Given the description of an element on the screen output the (x, y) to click on. 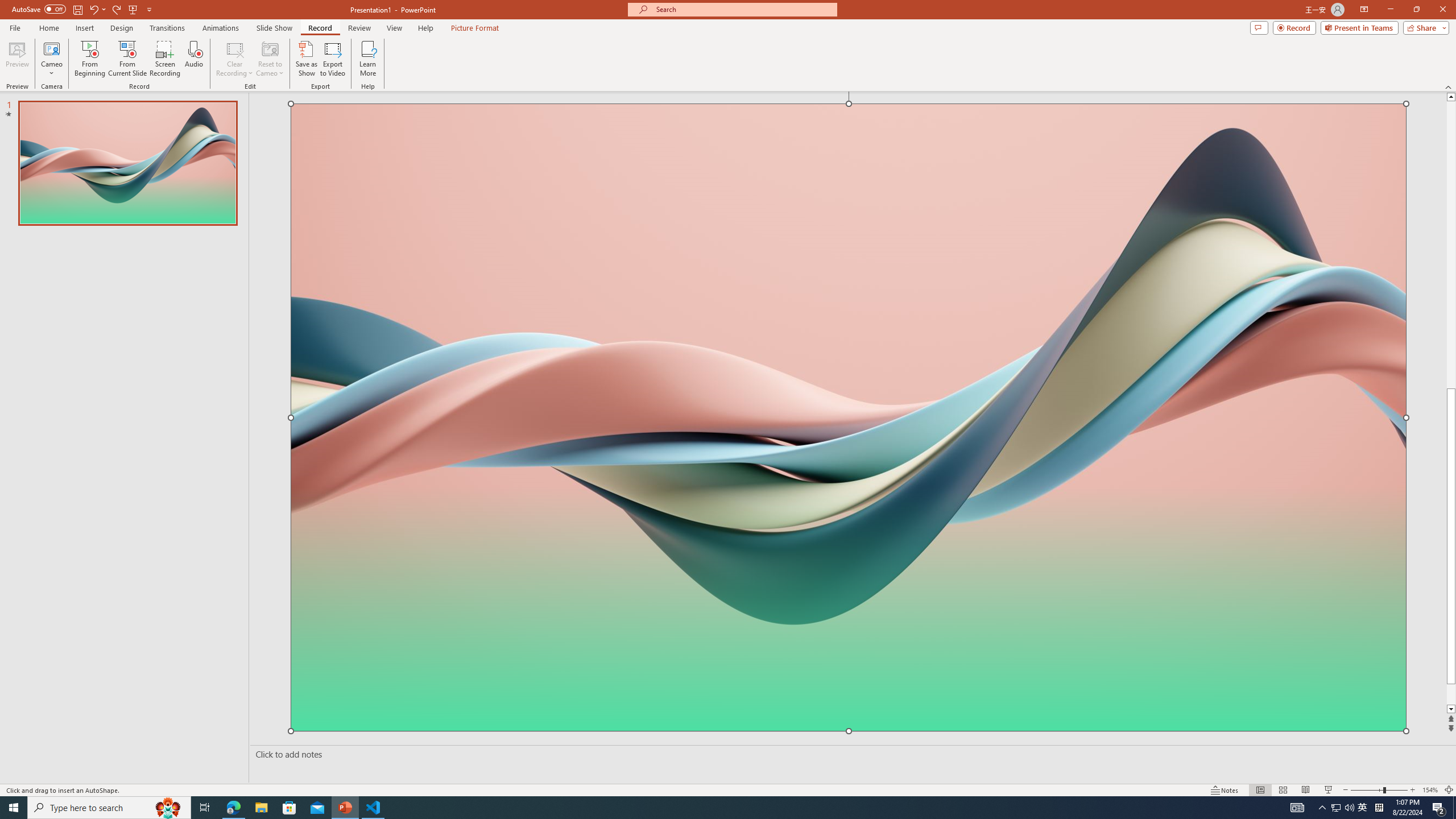
Decorative Locked (848, 588)
